Given the description of an element on the screen output the (x, y) to click on. 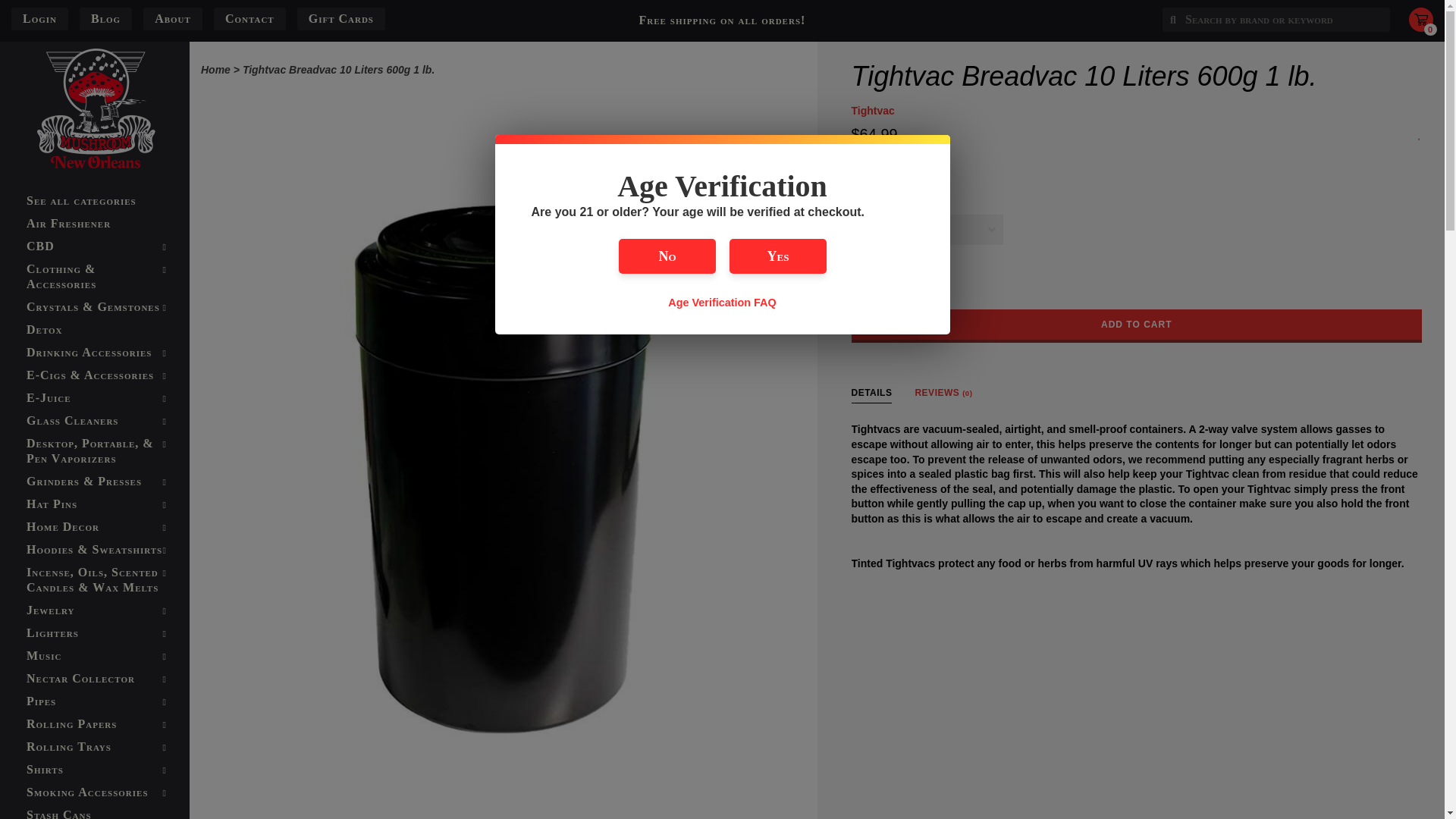
Contact (250, 18)
My account (39, 19)
Air Freshener (94, 223)
Blog (105, 18)
Free shipping on all orders! (722, 19)
About (172, 18)
1 (865, 282)
See all categories (94, 200)
Gift Cards (341, 18)
CBD (94, 246)
